Given the description of an element on the screen output the (x, y) to click on. 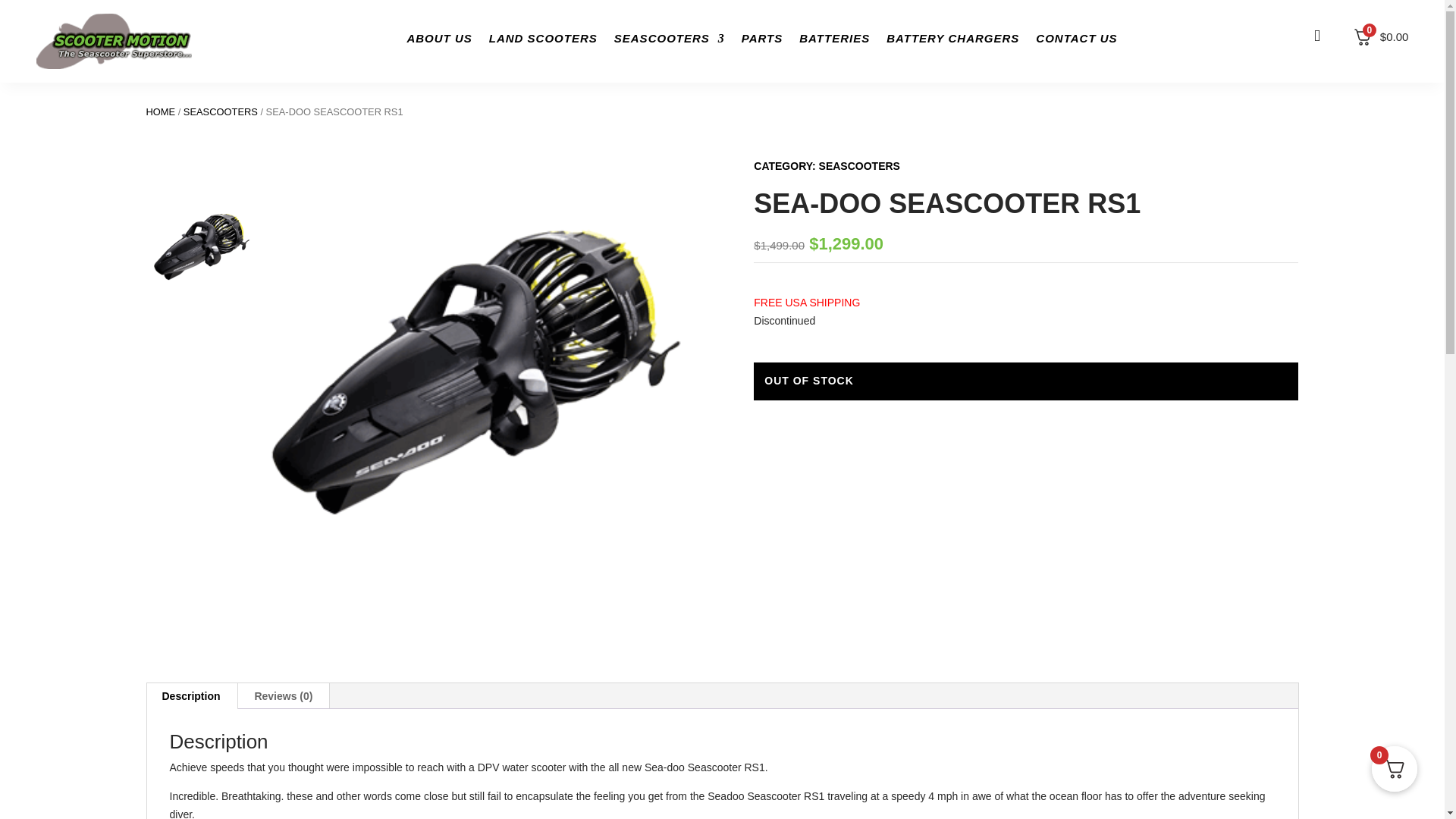
LAND SCOOTERS (542, 41)
CONTACT US (1075, 41)
SEASCOOTERS (669, 41)
BATTERY CHARGERS (952, 41)
BATTERIES (834, 41)
PARTS (762, 41)
ABOUT US (438, 41)
